Given the description of an element on the screen output the (x, y) to click on. 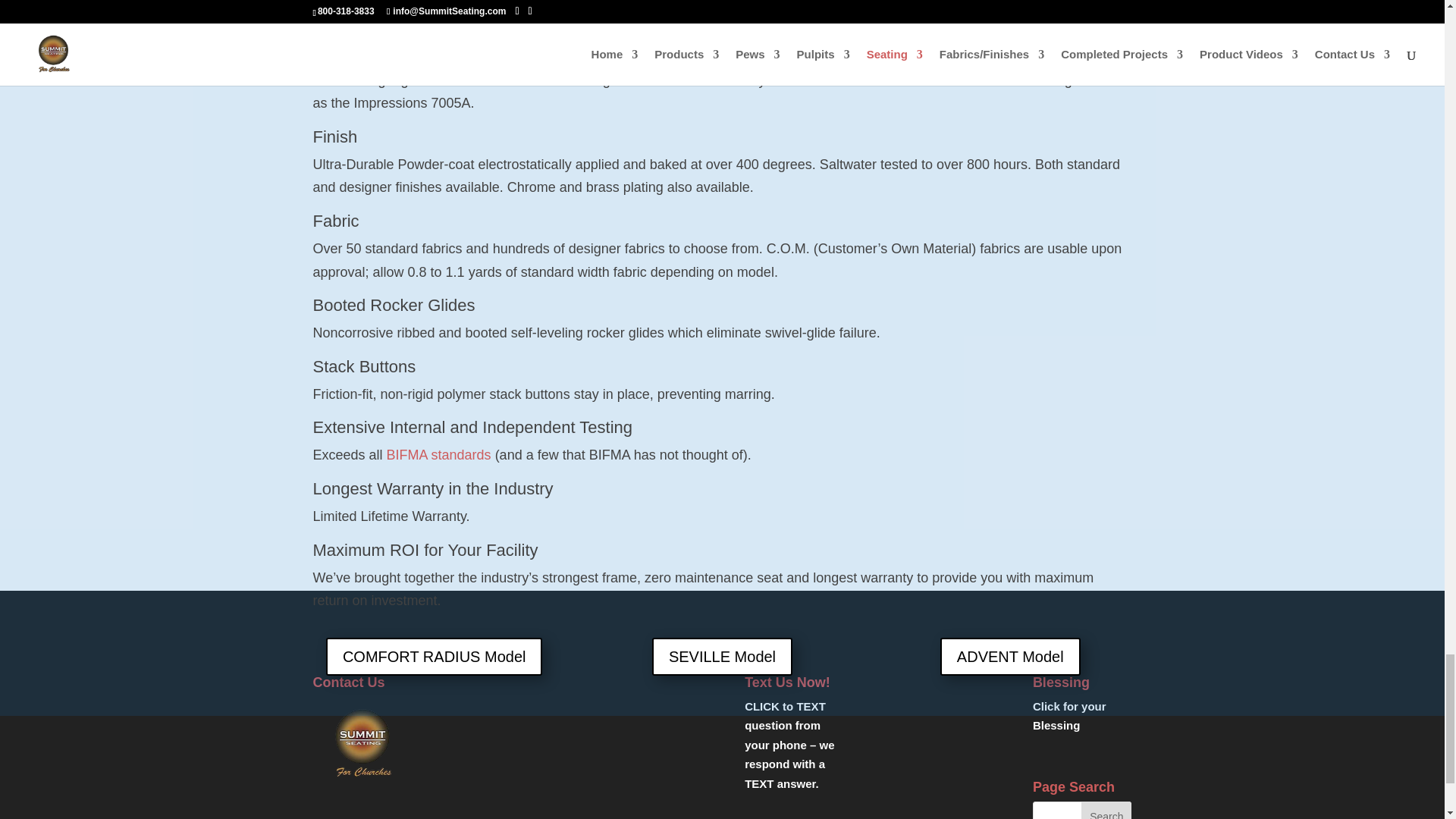
Search (1106, 810)
